Given the description of an element on the screen output the (x, y) to click on. 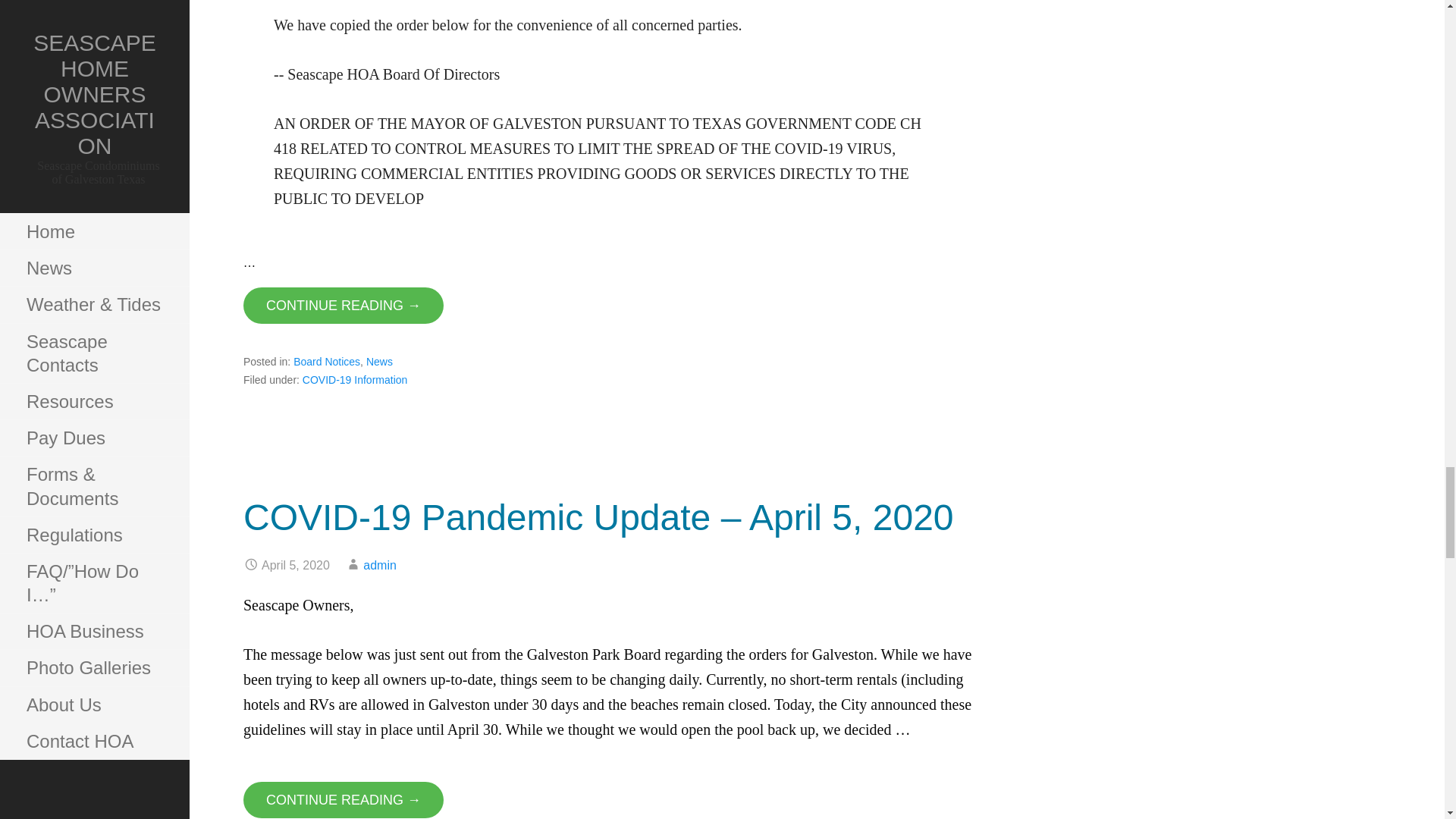
Posts by admin (379, 564)
